Given the description of an element on the screen output the (x, y) to click on. 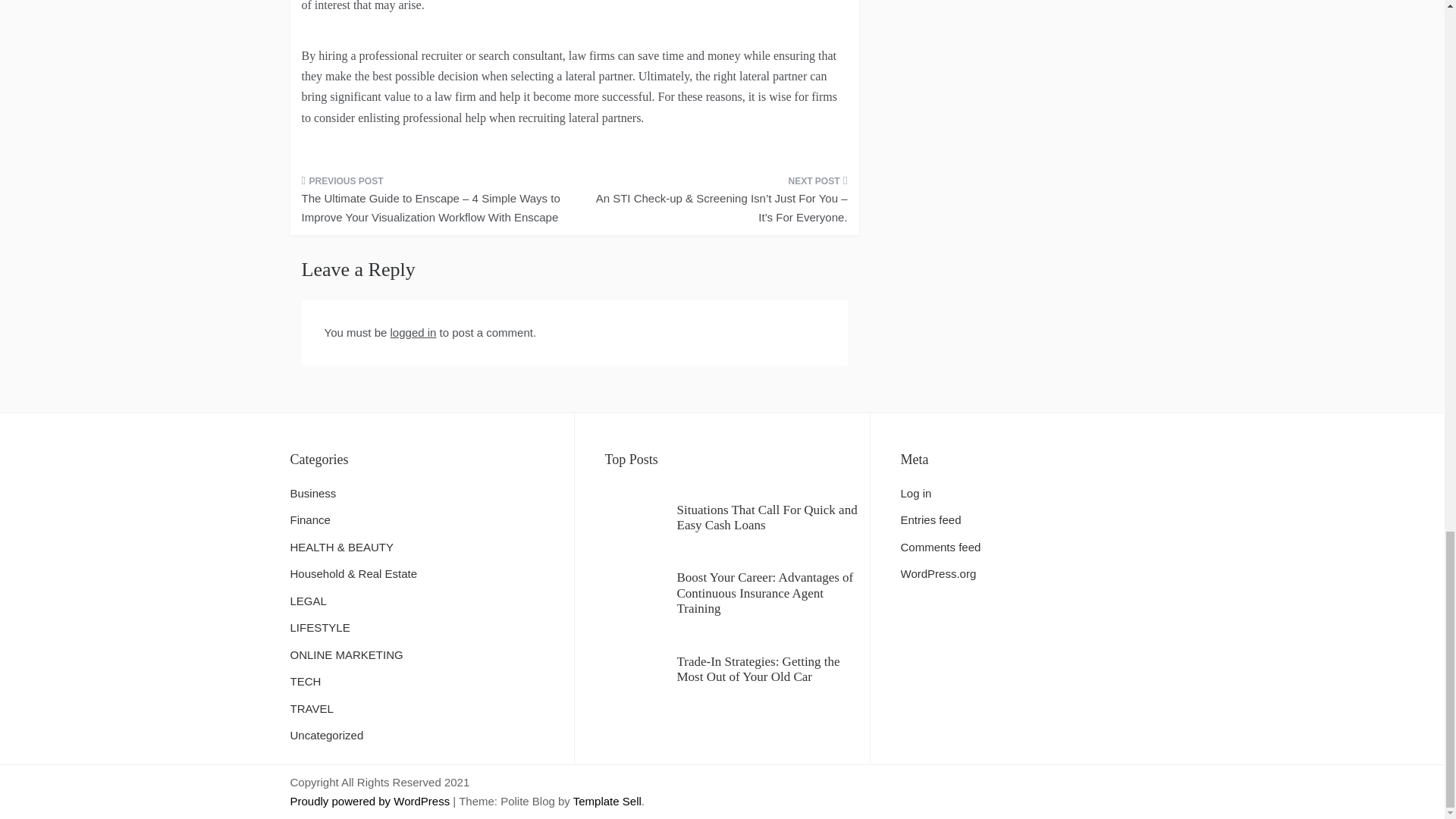
logged in (413, 332)
